Given the description of an element on the screen output the (x, y) to click on. 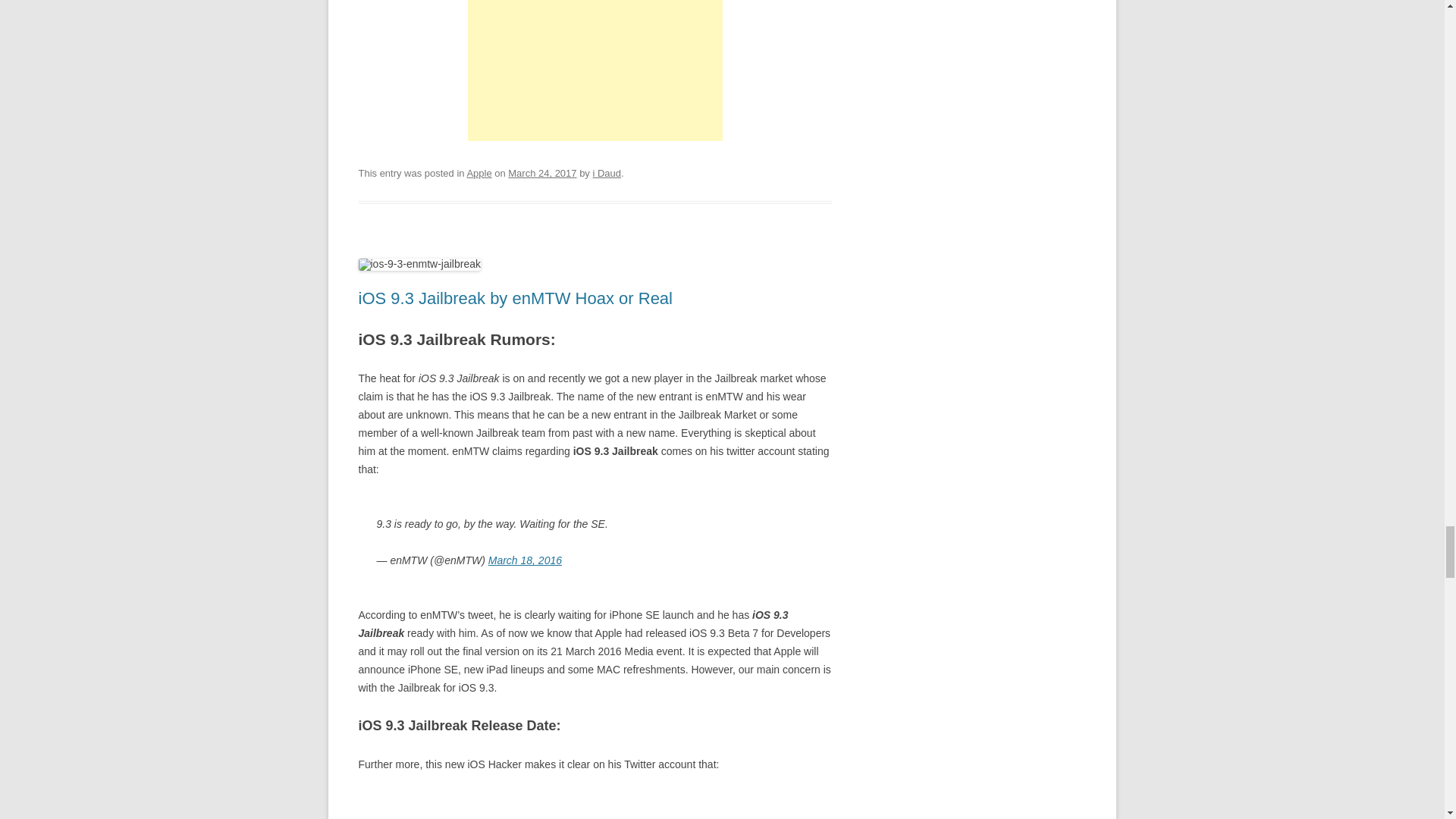
Apple (478, 173)
iOS 9.3 Jailbreak by enMTW Hoax or Real (515, 298)
10:28 PM (542, 173)
March 18, 2016 (524, 560)
March 24, 2017 (542, 173)
View all posts by i Daud (606, 173)
i Daud (606, 173)
